Given the description of an element on the screen output the (x, y) to click on. 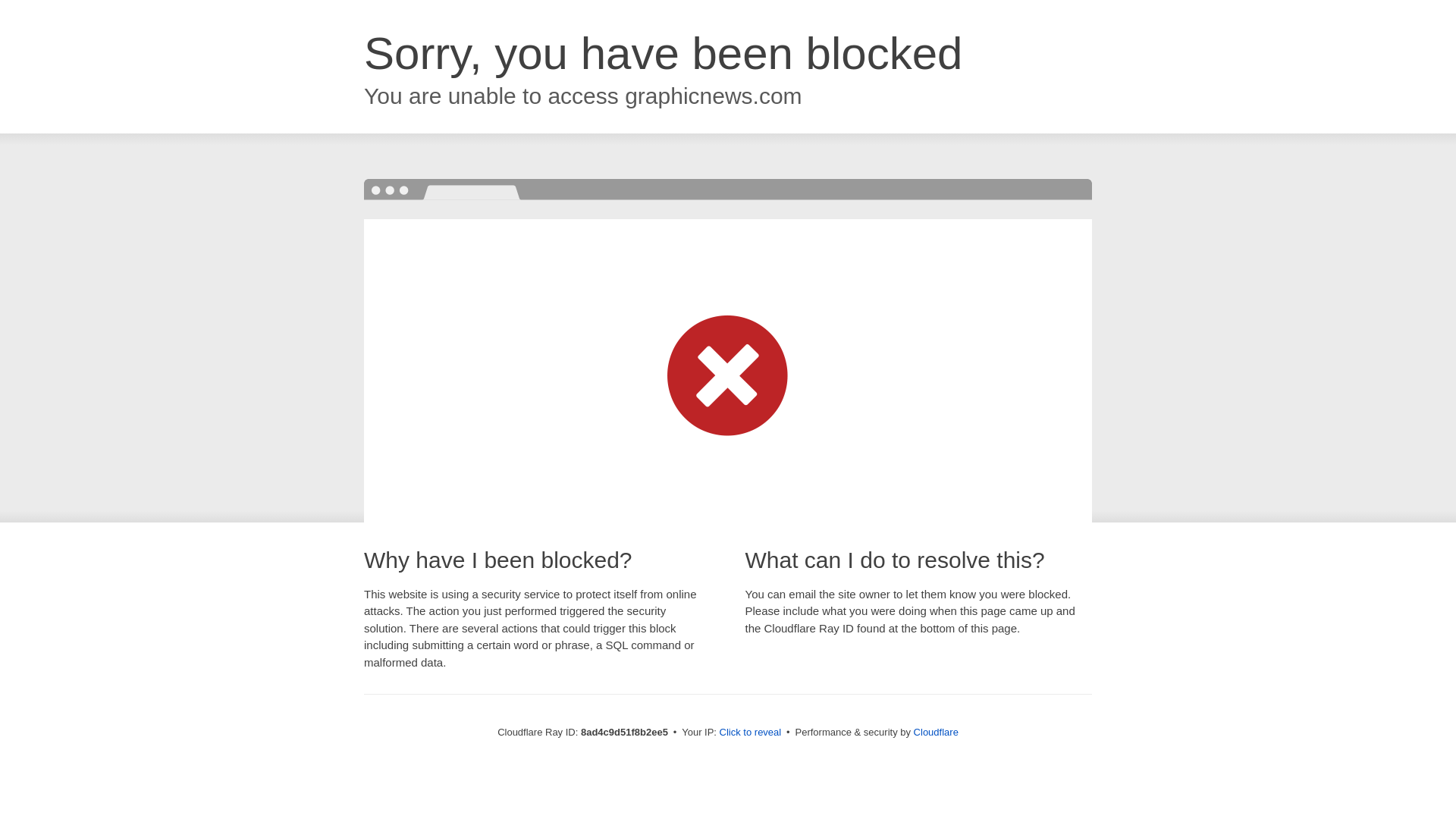
Click to reveal (750, 732)
Cloudflare (936, 731)
